Given the description of an element on the screen output the (x, y) to click on. 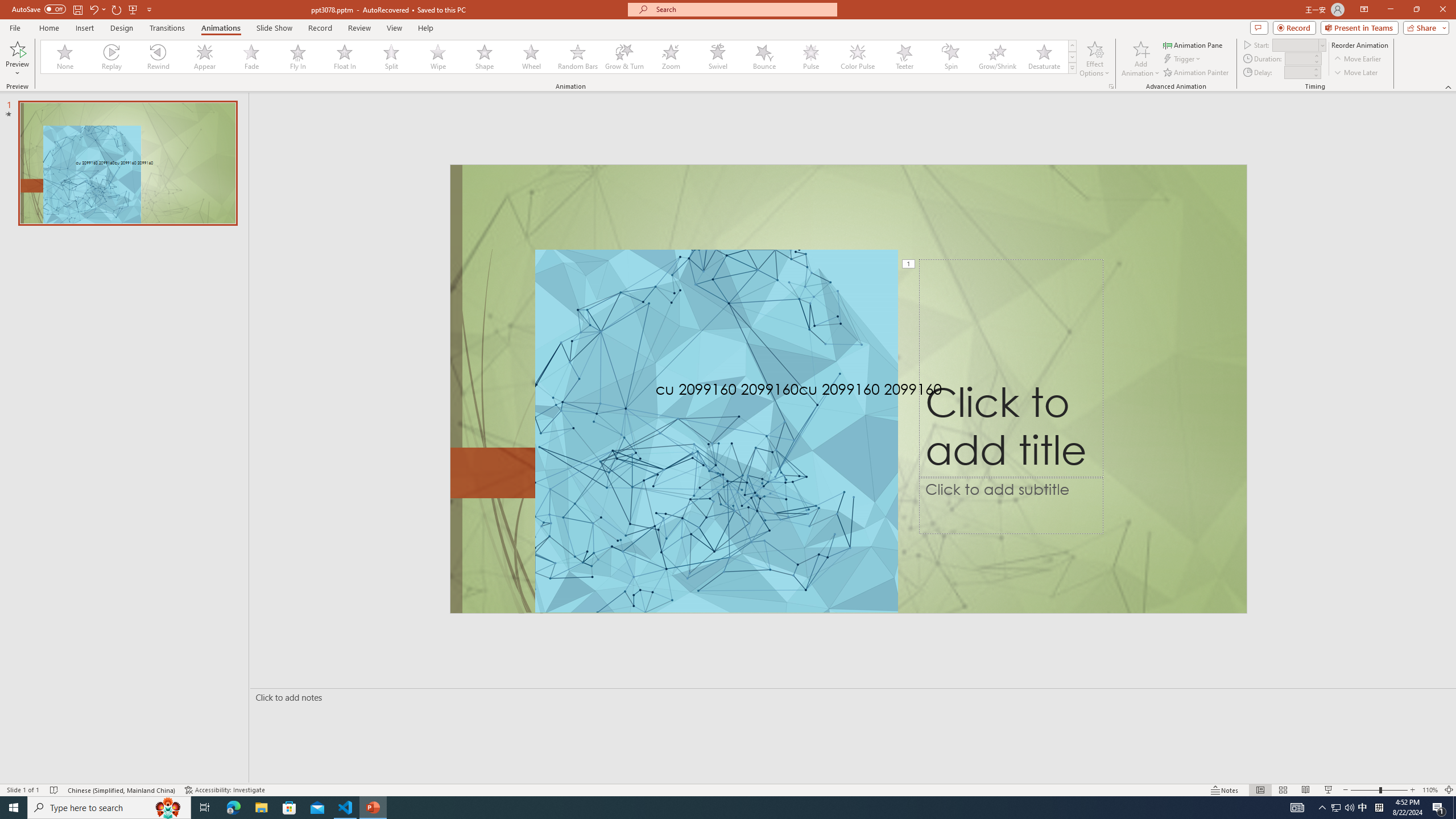
Animation Duration (1298, 58)
Rewind (158, 56)
Move Earlier (1357, 58)
Spin (950, 56)
Teeter (903, 56)
